Given the description of an element on the screen output the (x, y) to click on. 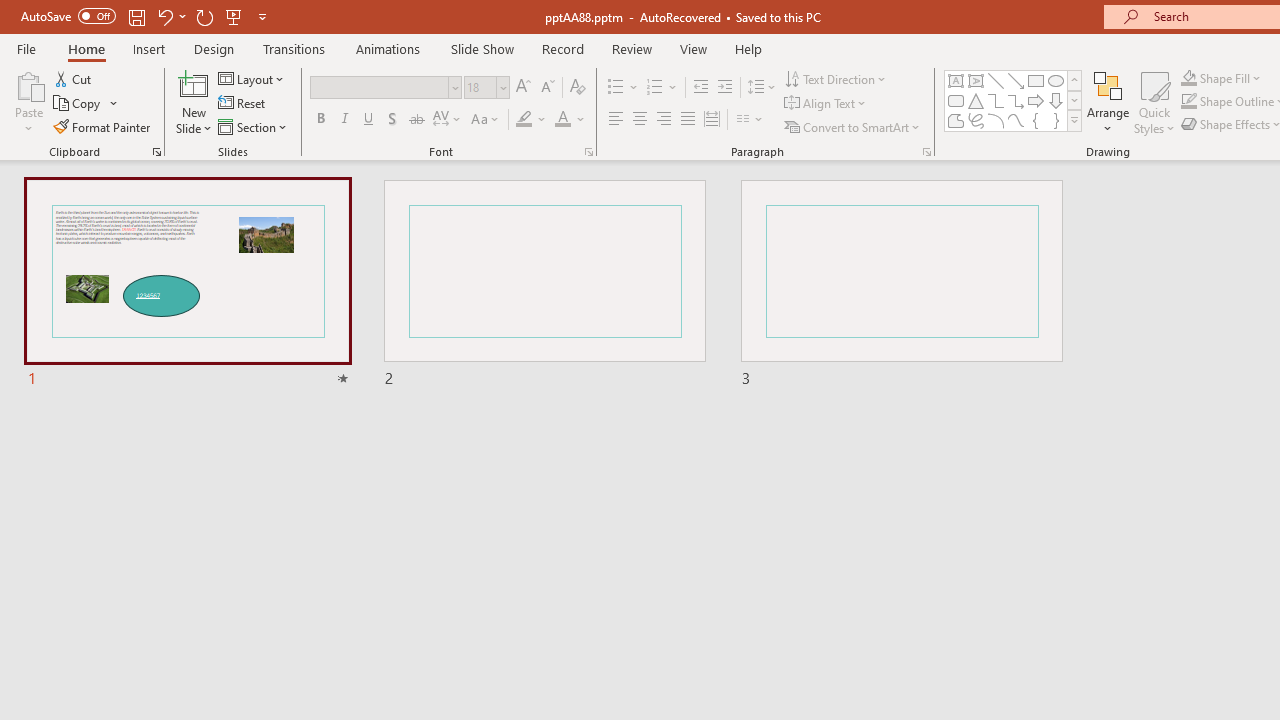
Shape Outline Teal, Accent 1 (1188, 101)
